Given the description of an element on the screen output the (x, y) to click on. 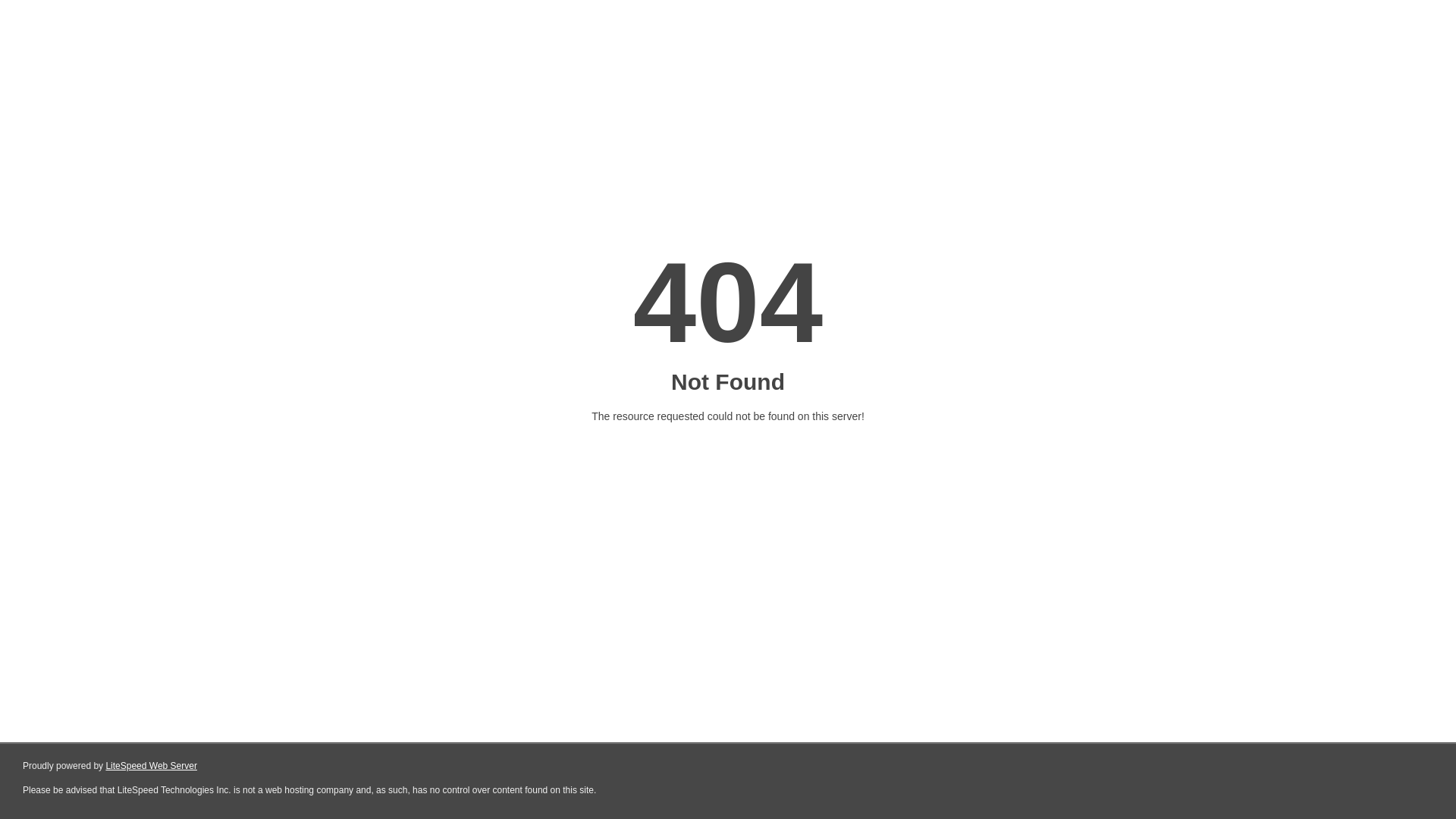
LiteSpeed Web Server Element type: text (151, 765)
